Given the description of an element on the screen output the (x, y) to click on. 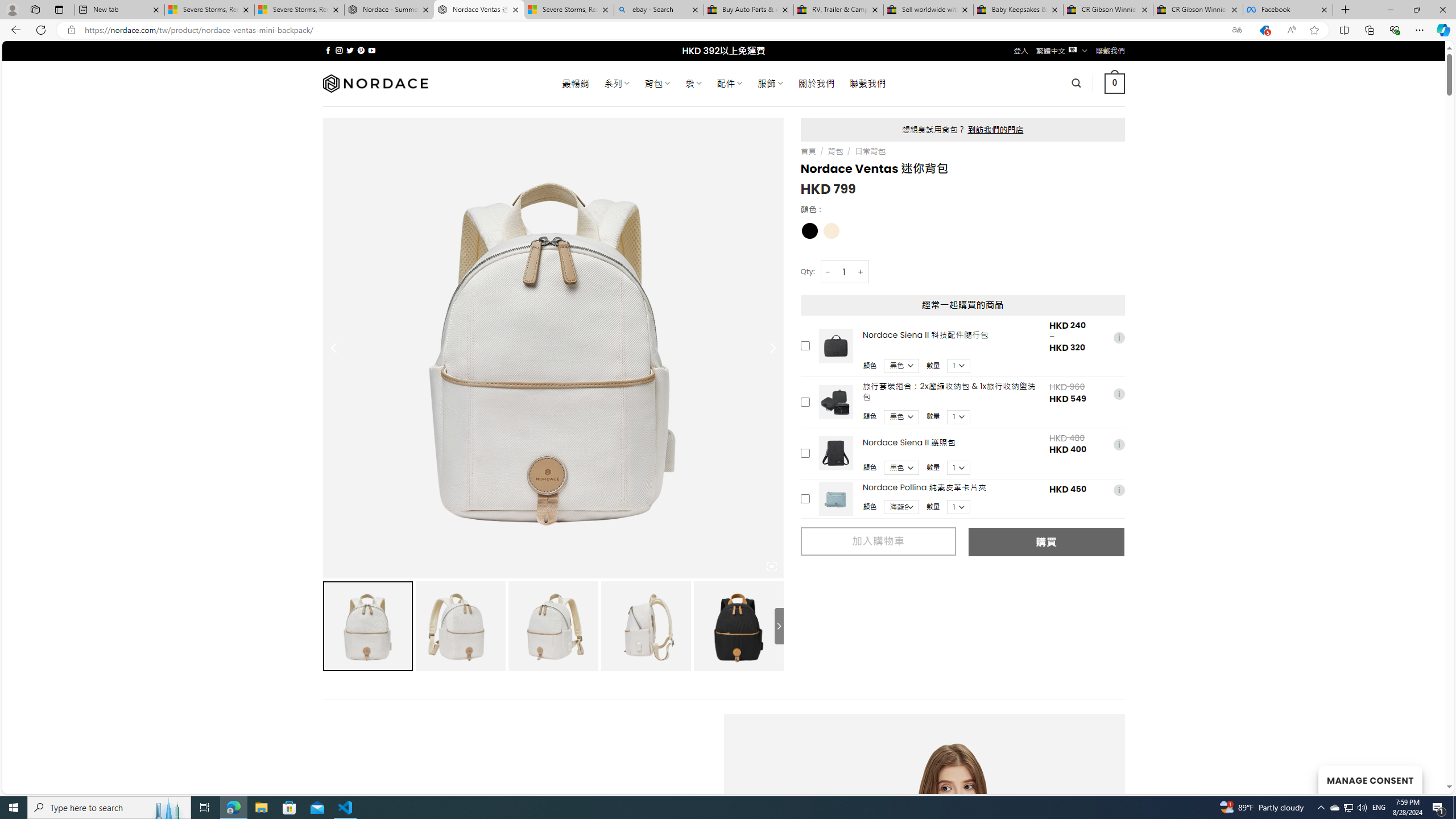
Show translate options (1236, 29)
Follow on Facebook (327, 50)
